Given the description of an element on the screen output the (x, y) to click on. 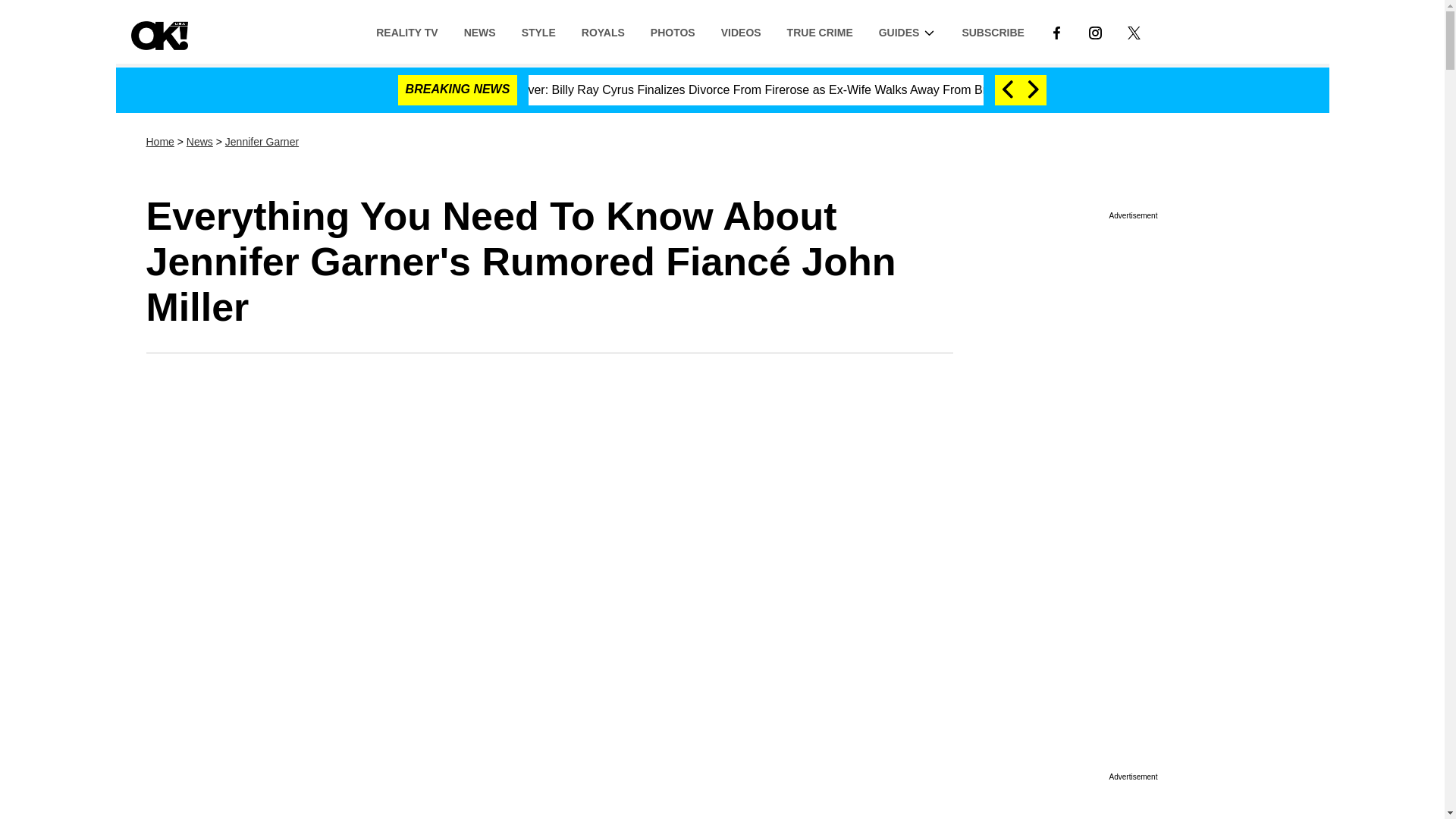
LINK TO X (1134, 31)
SUBSCRIBE (992, 31)
LINK TO INSTAGRAM (1095, 31)
LINK TO X (1133, 32)
TRUE CRIME (820, 31)
PHOTOS (672, 31)
ROYALS (603, 31)
VIDEOS (740, 31)
LINK TO FACEBOOK (1055, 31)
Link to Instagram (1095, 31)
